Given the description of an element on the screen output the (x, y) to click on. 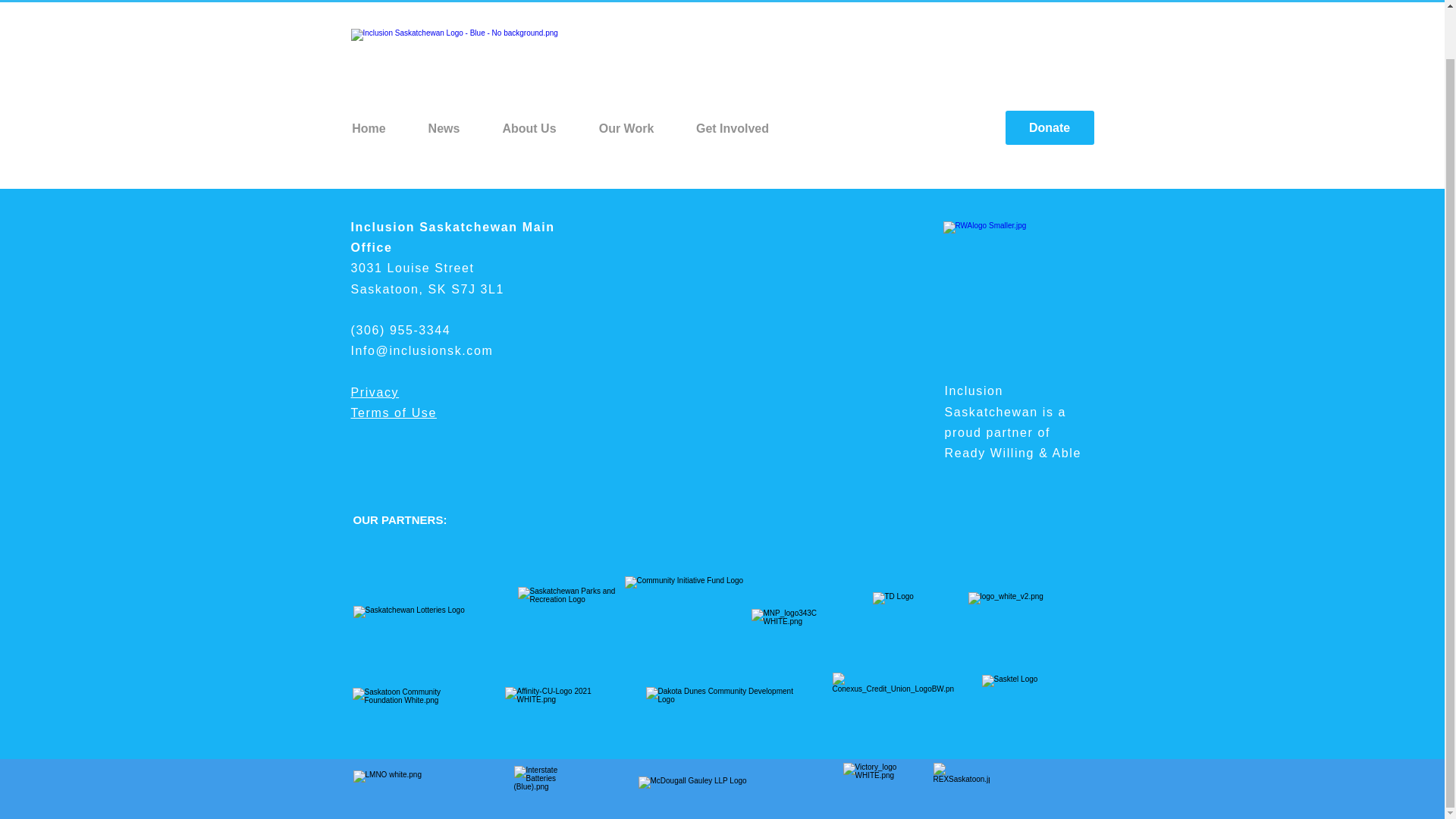
Get Involved (732, 128)
About Us (528, 128)
Saskatchewan Lotteries, Colour, Large LIGHT2.png (420, 622)
Our Work (626, 128)
News (443, 128)
Home (368, 128)
